Given the description of an element on the screen output the (x, y) to click on. 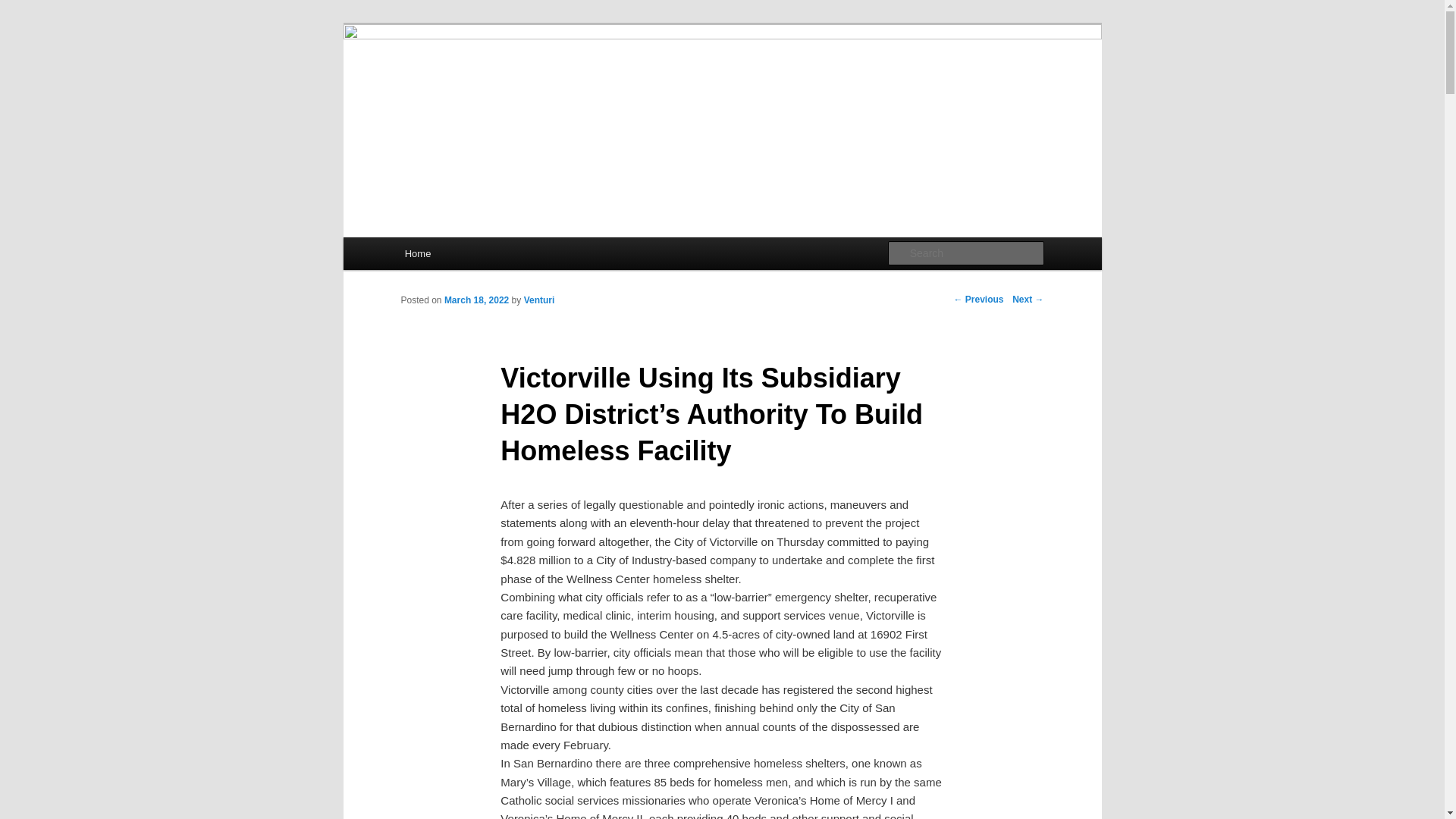
SBCSentinel (468, 78)
Skip to secondary content (479, 256)
10:55 PM (476, 299)
Skip to primary content (472, 256)
Home (417, 253)
March 18, 2022 (476, 299)
Venturi (539, 299)
Skip to secondary content (479, 256)
View all posts by Venturi (539, 299)
Skip to primary content (472, 256)
